Given the description of an element on the screen output the (x, y) to click on. 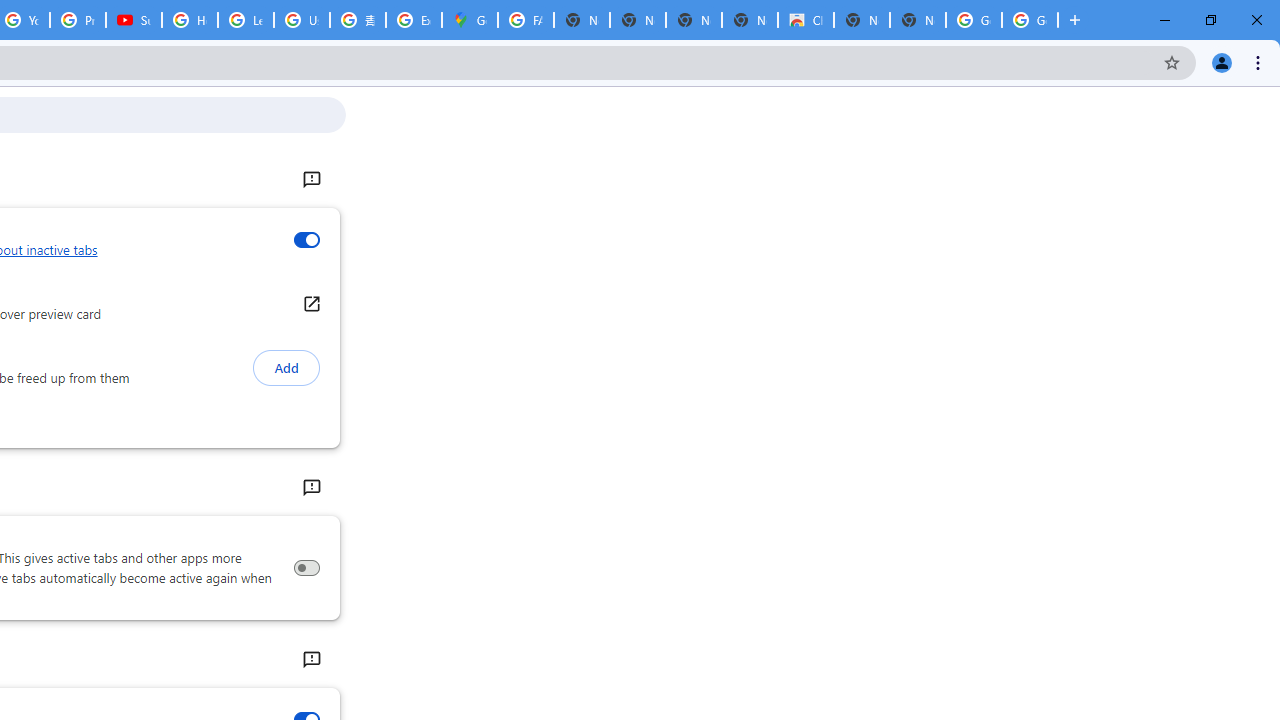
Explore new street-level details - Google Maps Help (413, 20)
Google Images (973, 20)
Google Images (1030, 20)
Speed (310, 659)
Subscriptions - YouTube (134, 20)
Memory Saver (306, 568)
Memory (310, 488)
